Given the description of an element on the screen output the (x, y) to click on. 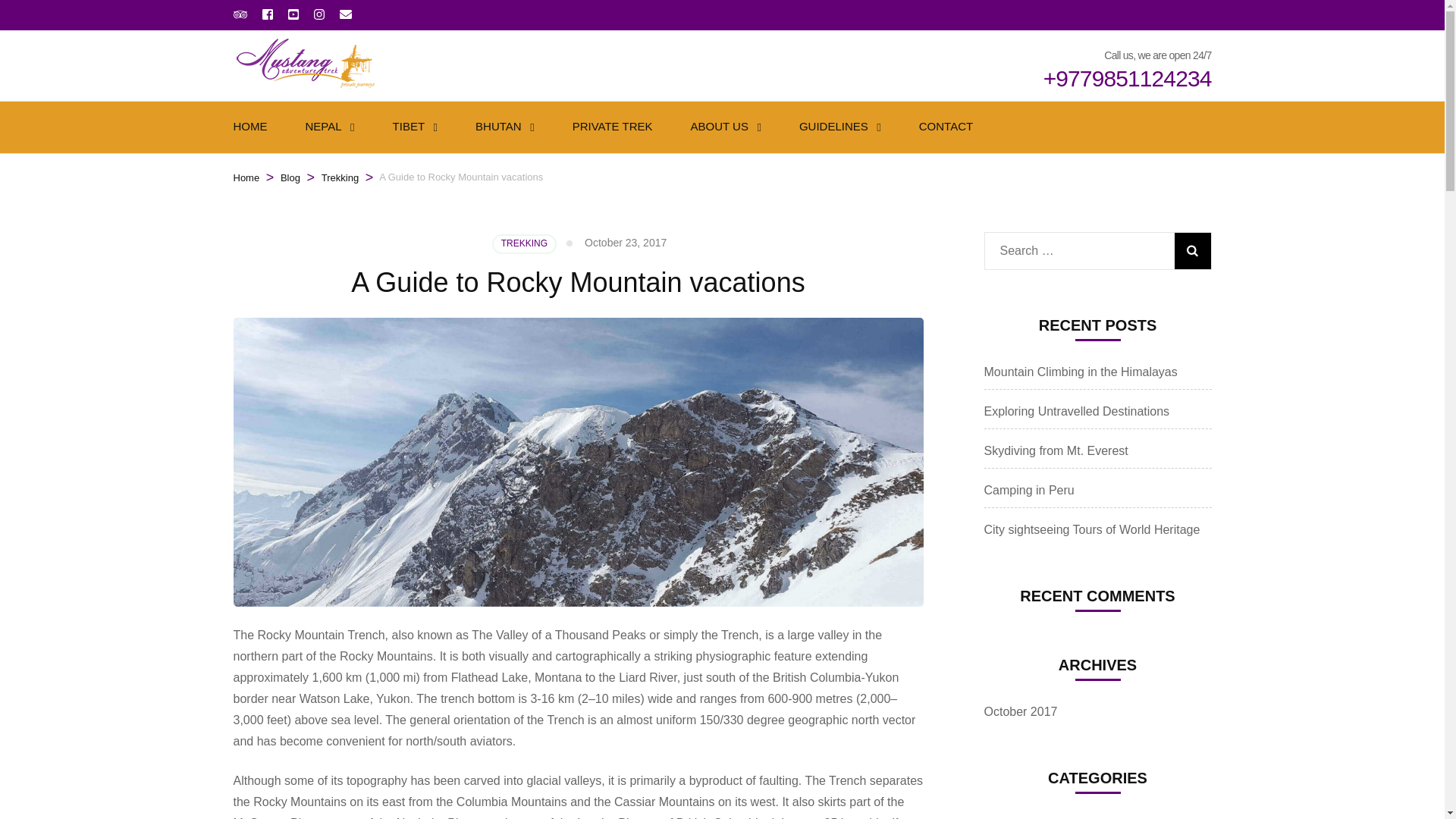
Search (1191, 250)
ABOUT US (719, 127)
Home (246, 177)
Search (1191, 250)
Trekking (339, 177)
BHUTAN (498, 127)
PRIVATE TREK (612, 127)
GUIDELINES (833, 127)
CONTACT (945, 127)
Blog (290, 177)
